Given the description of an element on the screen output the (x, y) to click on. 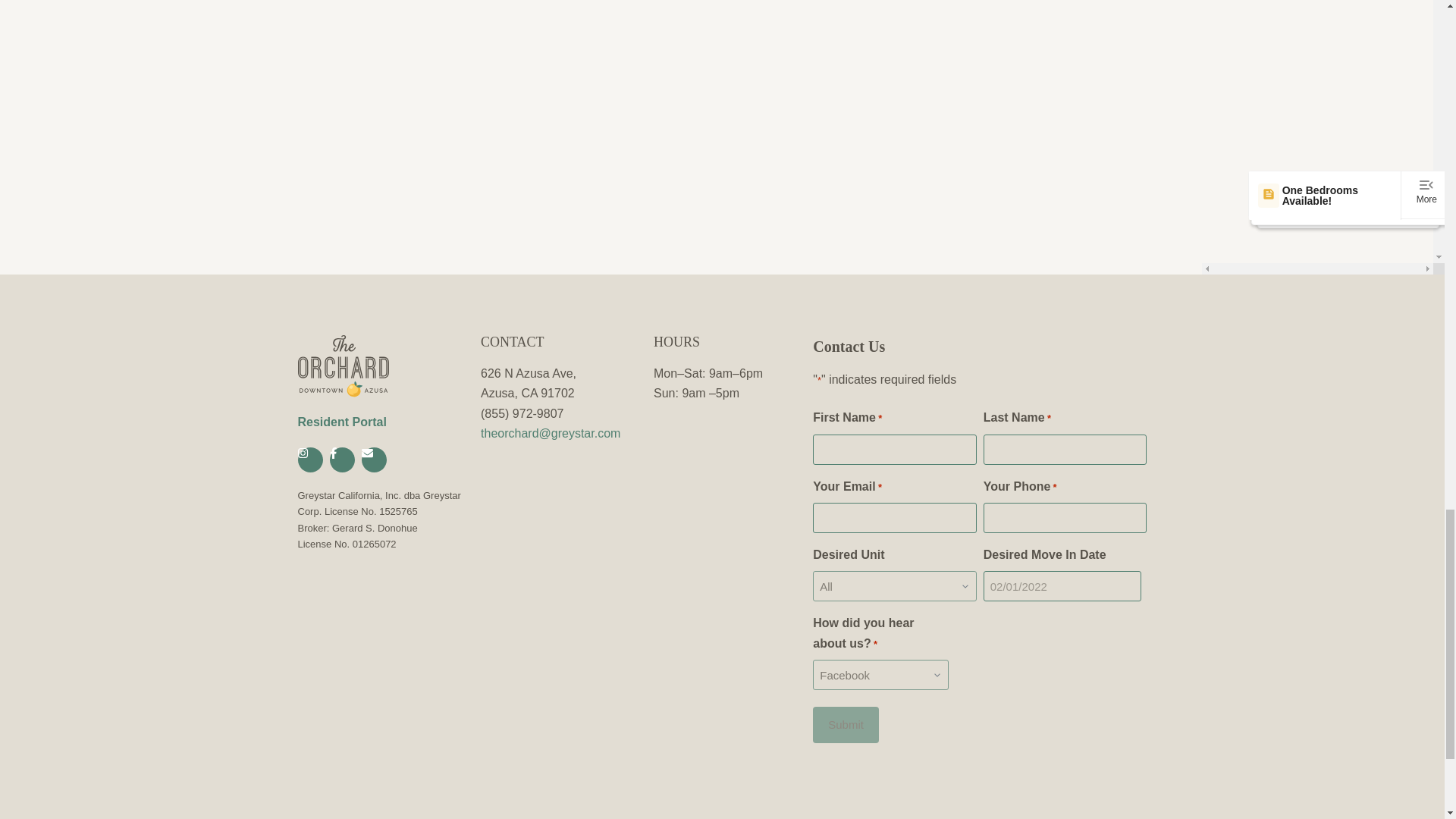
Resident Portal (341, 421)
Submit (845, 724)
